Given the description of an element on the screen output the (x, y) to click on. 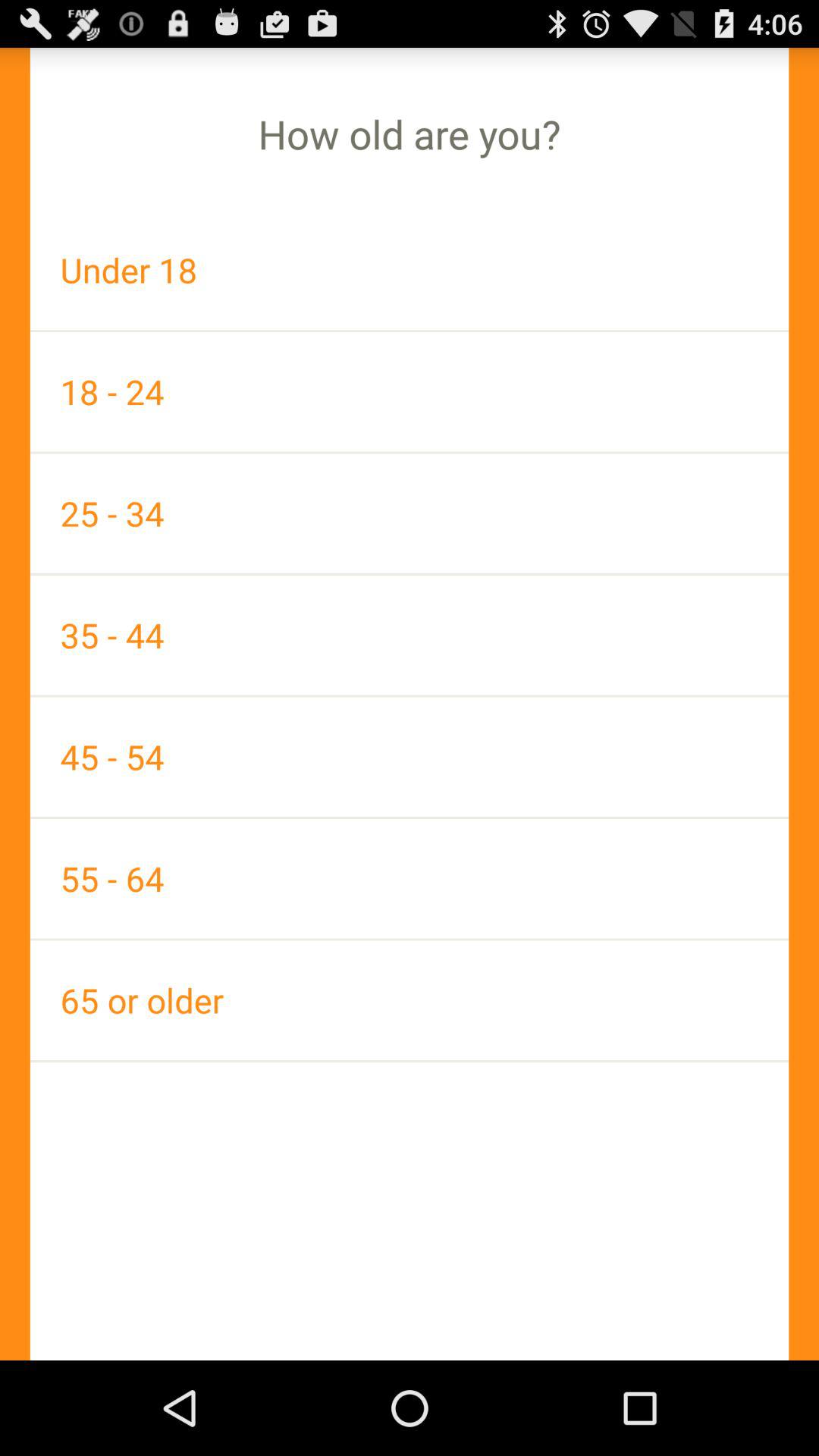
select 18 - 24 app (409, 391)
